Given the description of an element on the screen output the (x, y) to click on. 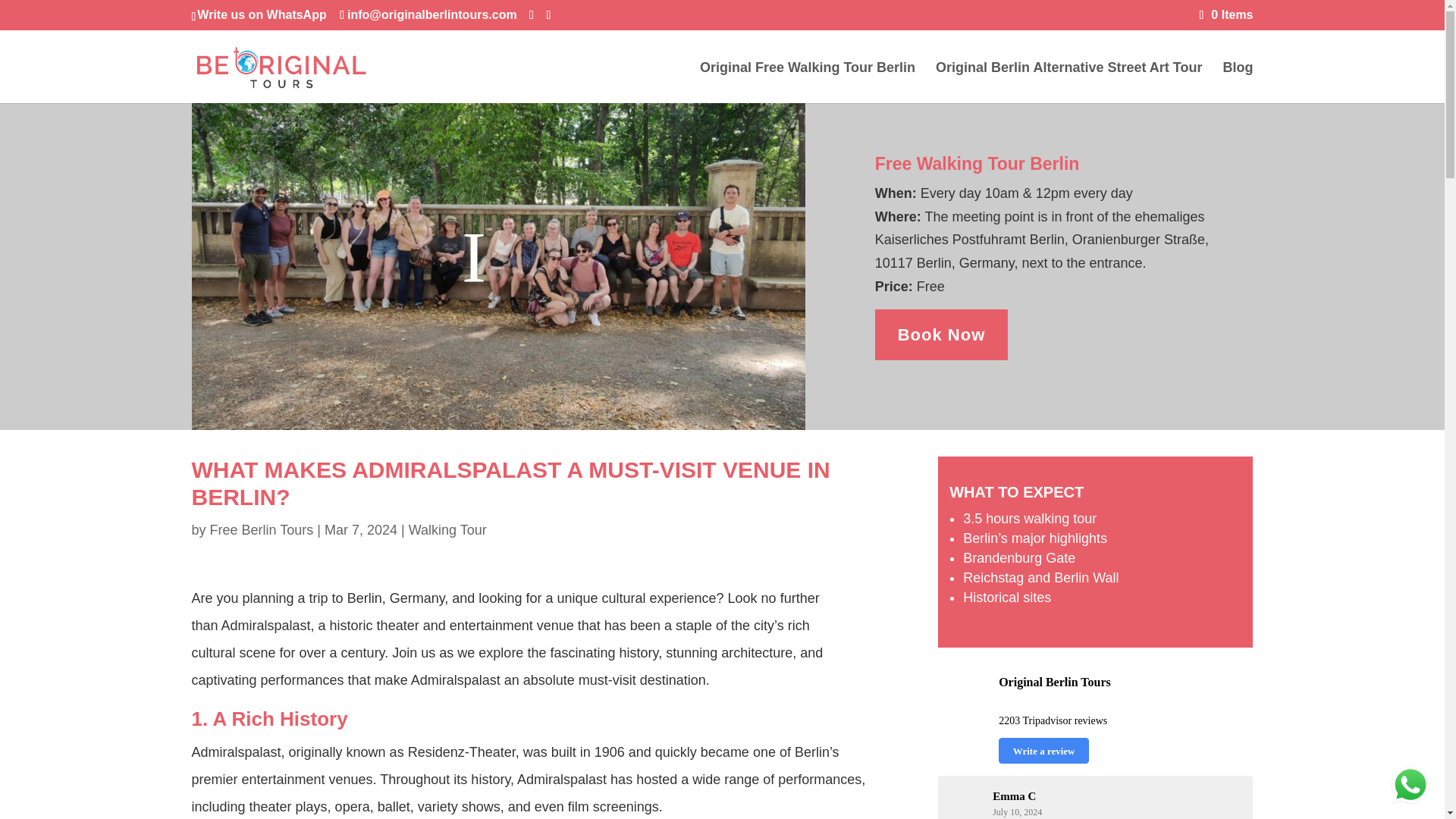
0 Items (1226, 14)
Posts by Free Berlin Tours (261, 529)
Write a review (1043, 750)
Blog (1237, 82)
Walking Tour (447, 529)
Free Berlin Tours (261, 529)
Original Free Walking Tour Berlin (807, 82)
Write us on WhatsApp (261, 14)
WhatsApp us (1410, 784)
Original Berlin Alternative Street Art Tour (1069, 82)
Book Now (942, 334)
